Given the description of an element on the screen output the (x, y) to click on. 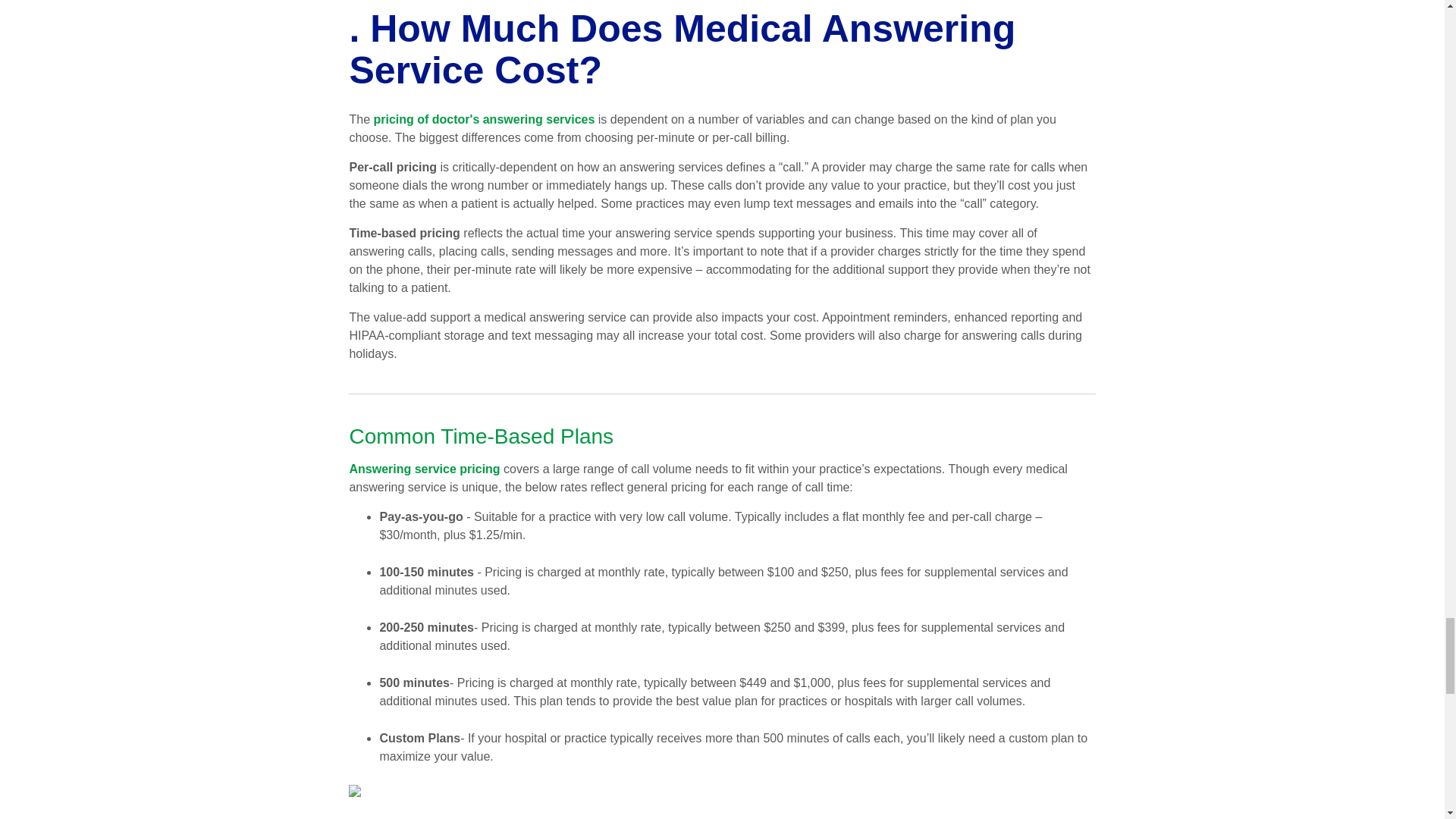
Answering service pricing (424, 468)
pricing of doctor's answering services (483, 118)
